Given the description of an element on the screen output the (x, y) to click on. 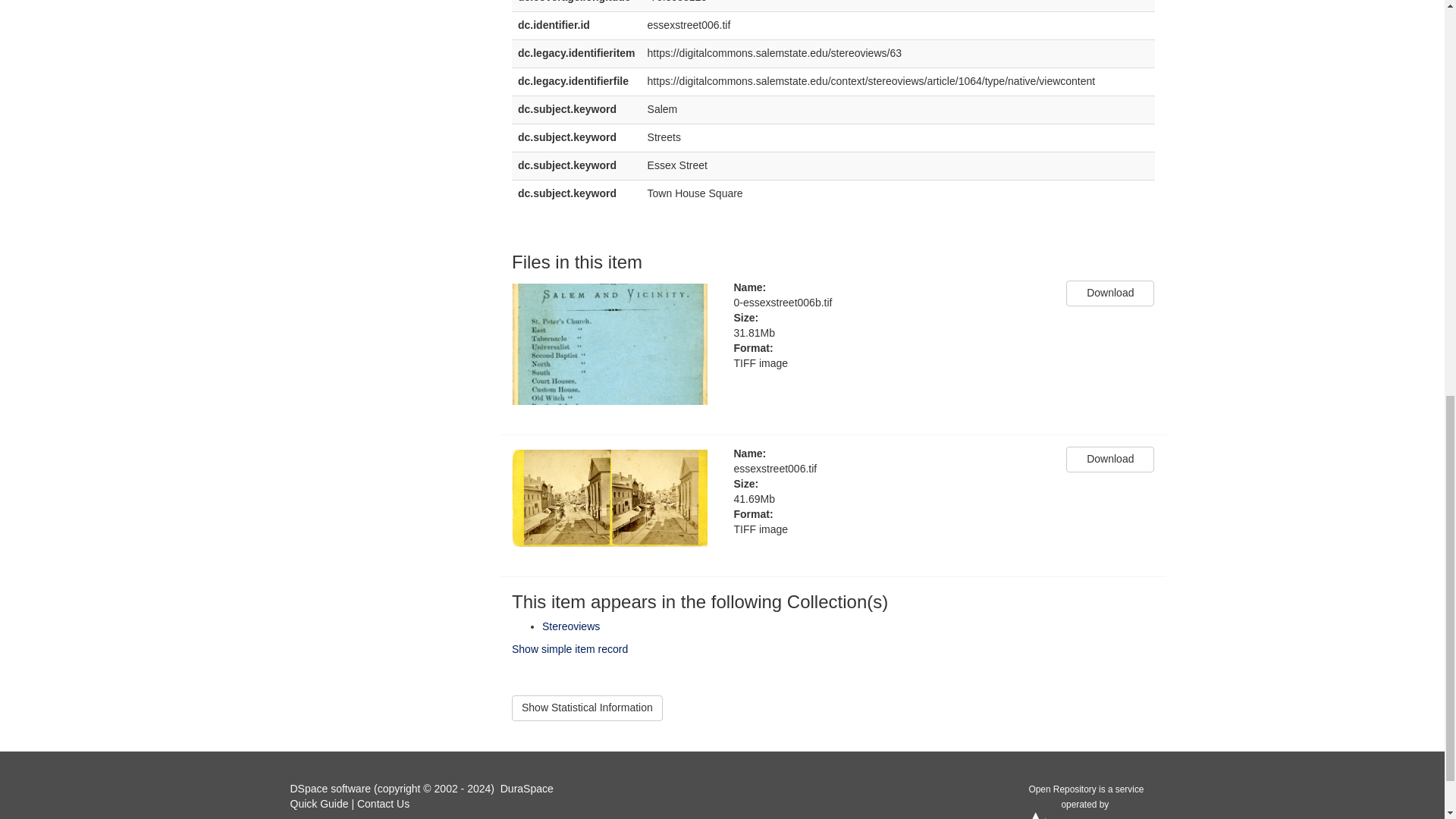
essexstreet006.tif (888, 468)
0-essexstreet006b.tif (888, 303)
